Given the description of an element on the screen output the (x, y) to click on. 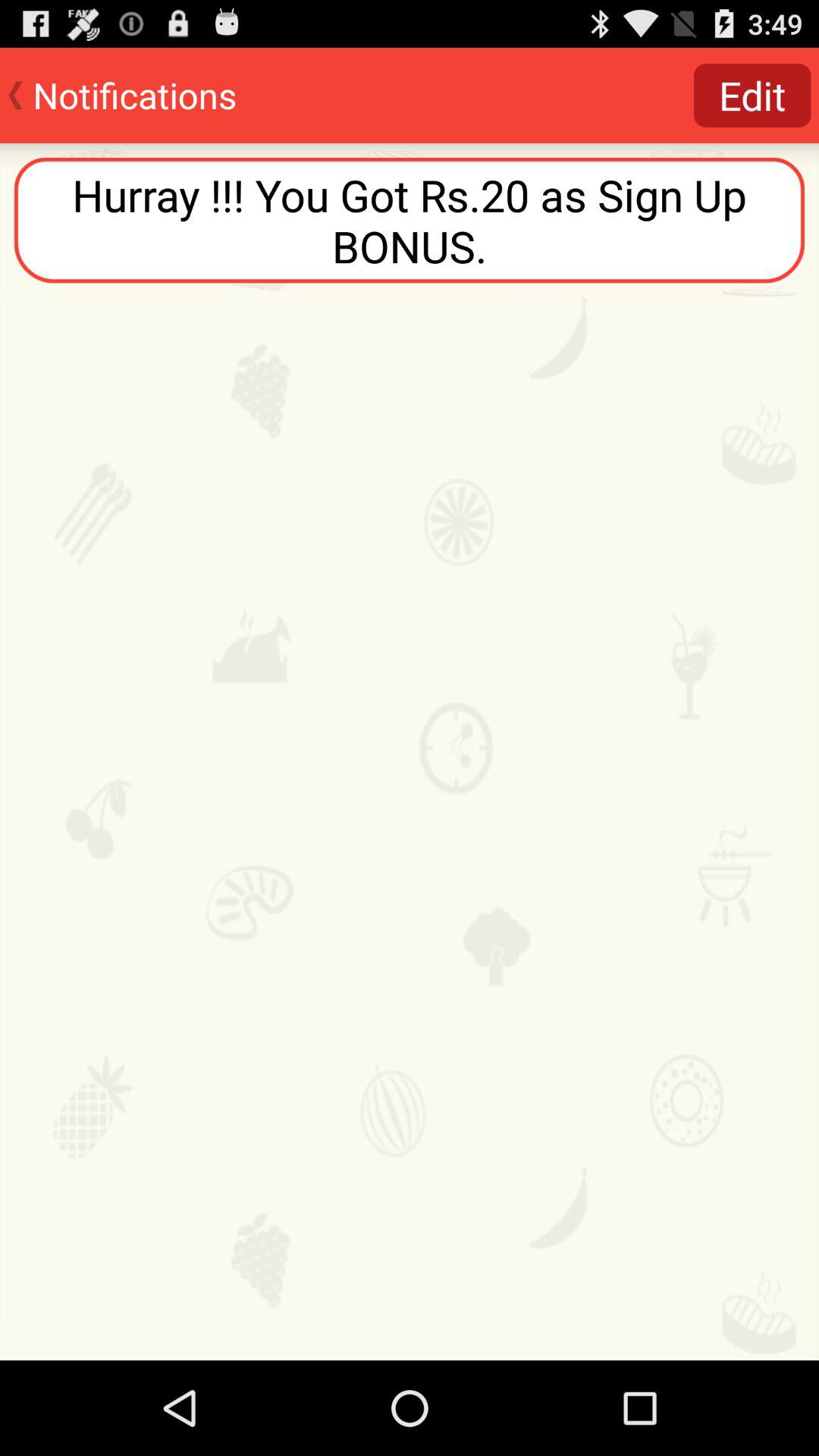
open hurray you got item (409, 220)
